Given the description of an element on the screen output the (x, y) to click on. 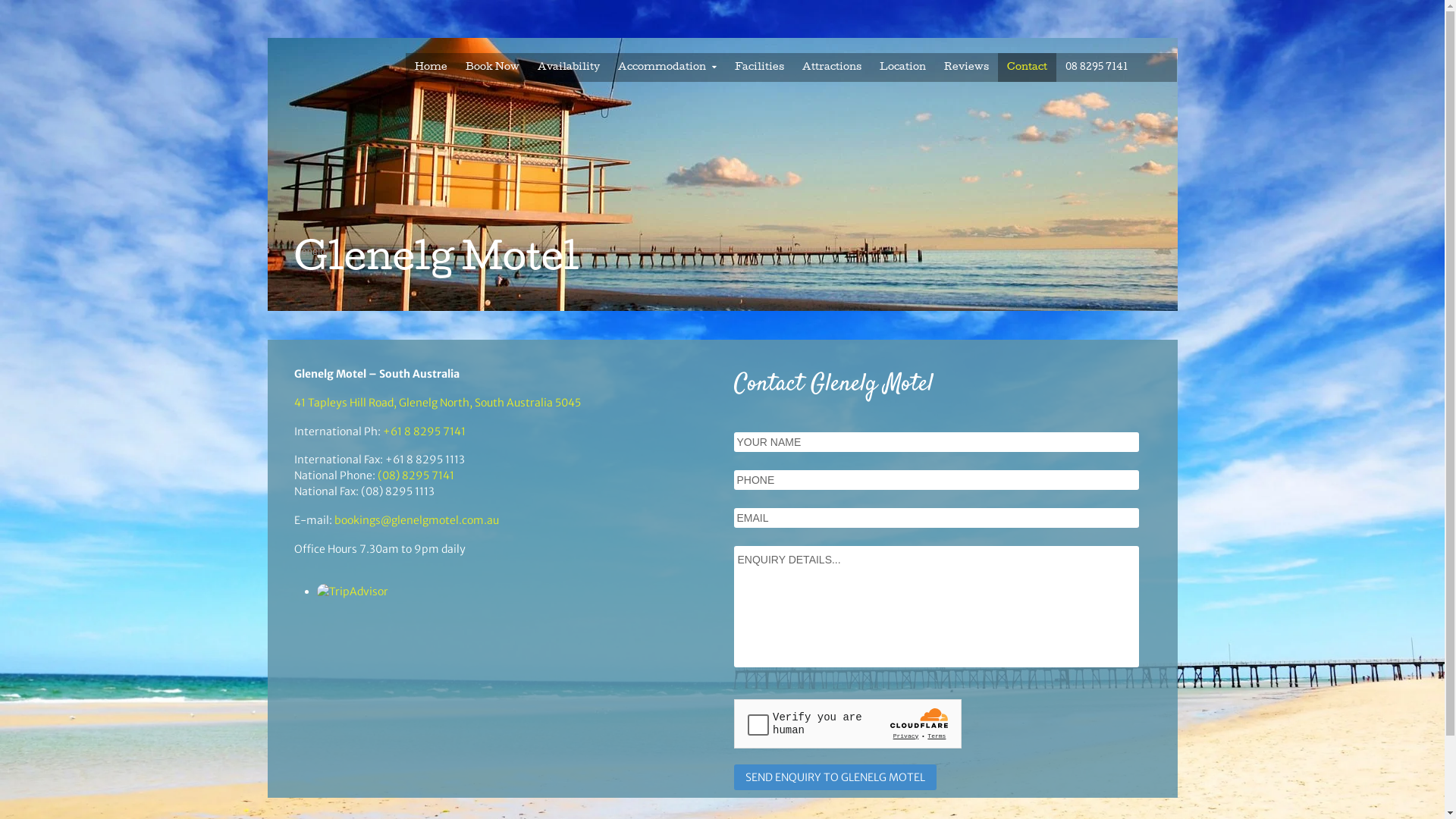
Glenelg Motel Element type: text (436, 261)
Reviews Element type: text (966, 67)
Facilities Element type: text (759, 67)
+61 8 8295 7141 Element type: text (423, 431)
Accommodation Element type: text (666, 67)
Widget containing a Cloudflare security challenge Element type: hover (847, 723)
Attractions Element type: text (831, 67)
41 Tapleys Hill Road, Glenelg North, South Australia 5045 Element type: text (437, 402)
08 8295 7141 Element type: text (1096, 67)
bookings@glenelgmotel.com.au Element type: text (415, 520)
Contact Element type: text (1026, 67)
Send Enquiry to Glenelg Motel Element type: text (835, 777)
(08) 8295 7141 Element type: text (415, 475)
Contact Us - Element type: hover (352, 591)
Availability Element type: text (567, 67)
Book Now Element type: text (492, 67)
Location Element type: text (902, 67)
Home Element type: text (429, 67)
